Given the description of an element on the screen output the (x, y) to click on. 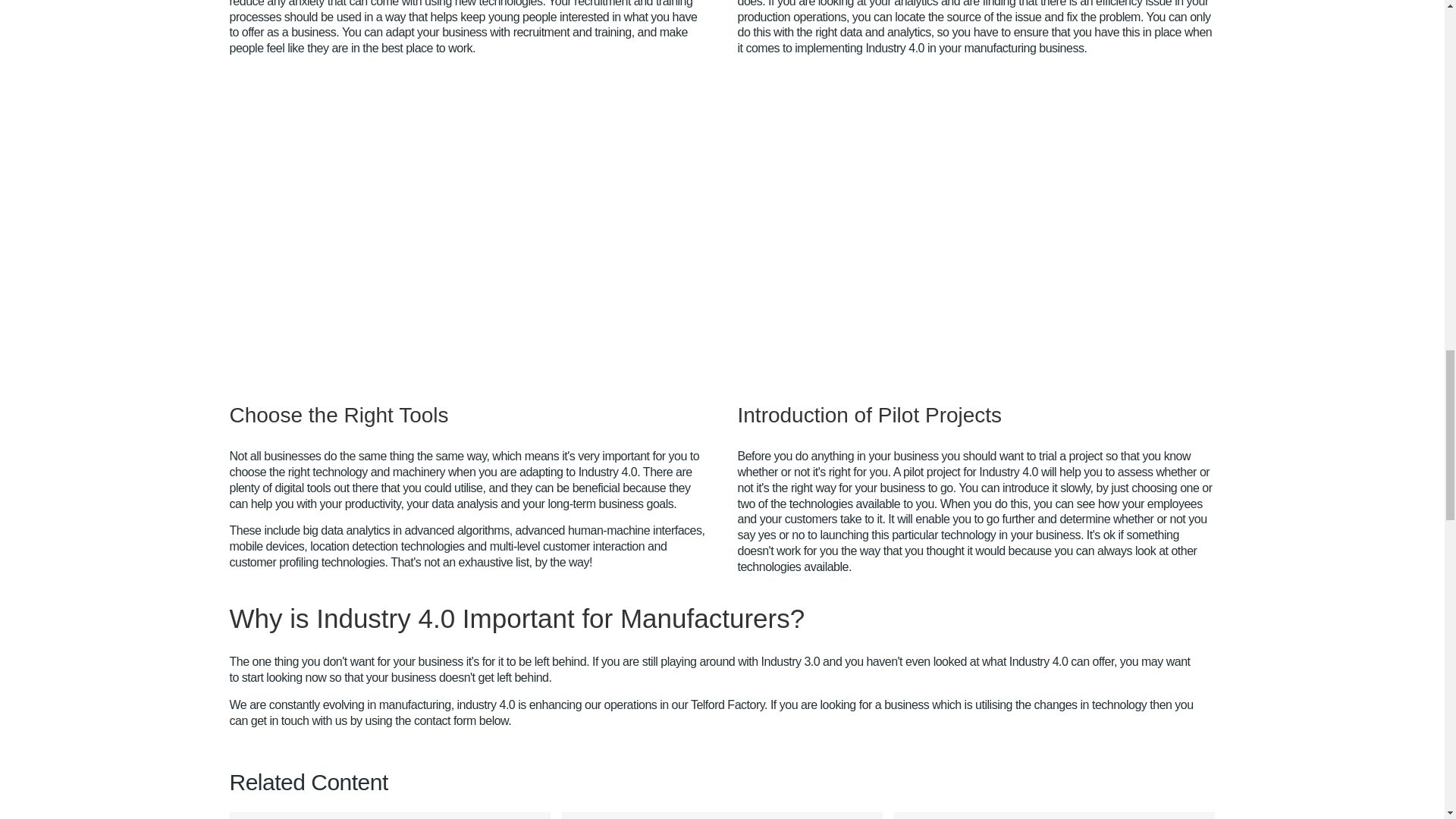
Robotic,Hand,With,Virtual,Graphic (1050, 216)
Embracing Industry 4.0: How can your Business Adapt (389, 815)
Embracing Industry 4.0: How can your Business Adapt (721, 815)
what is industry 4.0 (392, 216)
